Given the description of an element on the screen output the (x, y) to click on. 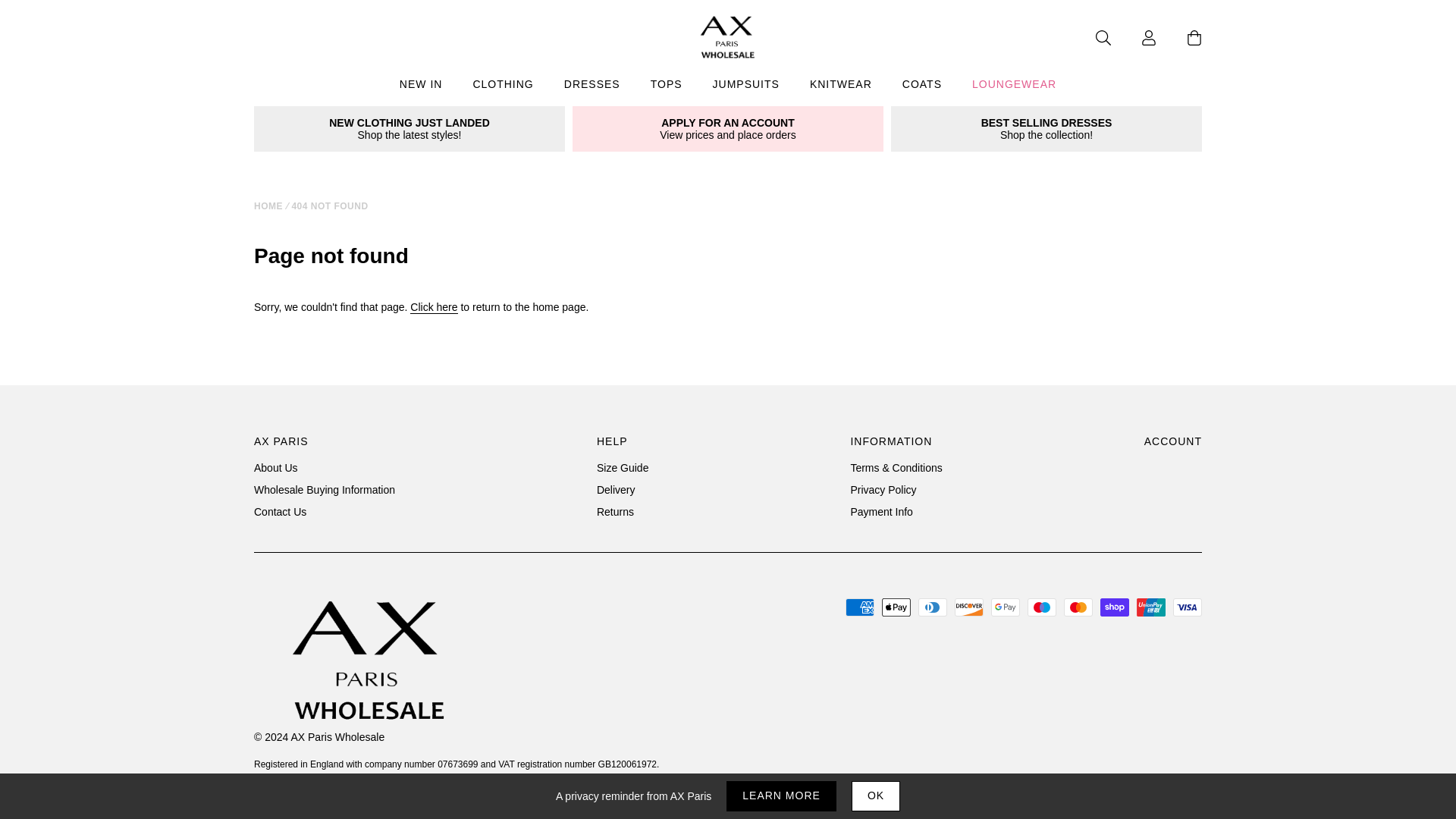
Maestro (1042, 607)
KNITWEAR (840, 87)
DRESSES (591, 87)
Mastercard (1078, 607)
HOME (267, 205)
Discover (969, 607)
Google Pay (1005, 607)
COATS (921, 87)
Apple Pay (896, 607)
Contact Us (279, 511)
Wholesale Buying Information (323, 490)
CLOTHING (502, 87)
Delivery (615, 490)
JUMPSUITS (745, 87)
LOUNGEWEAR (1013, 87)
